Given the description of an element on the screen output the (x, y) to click on. 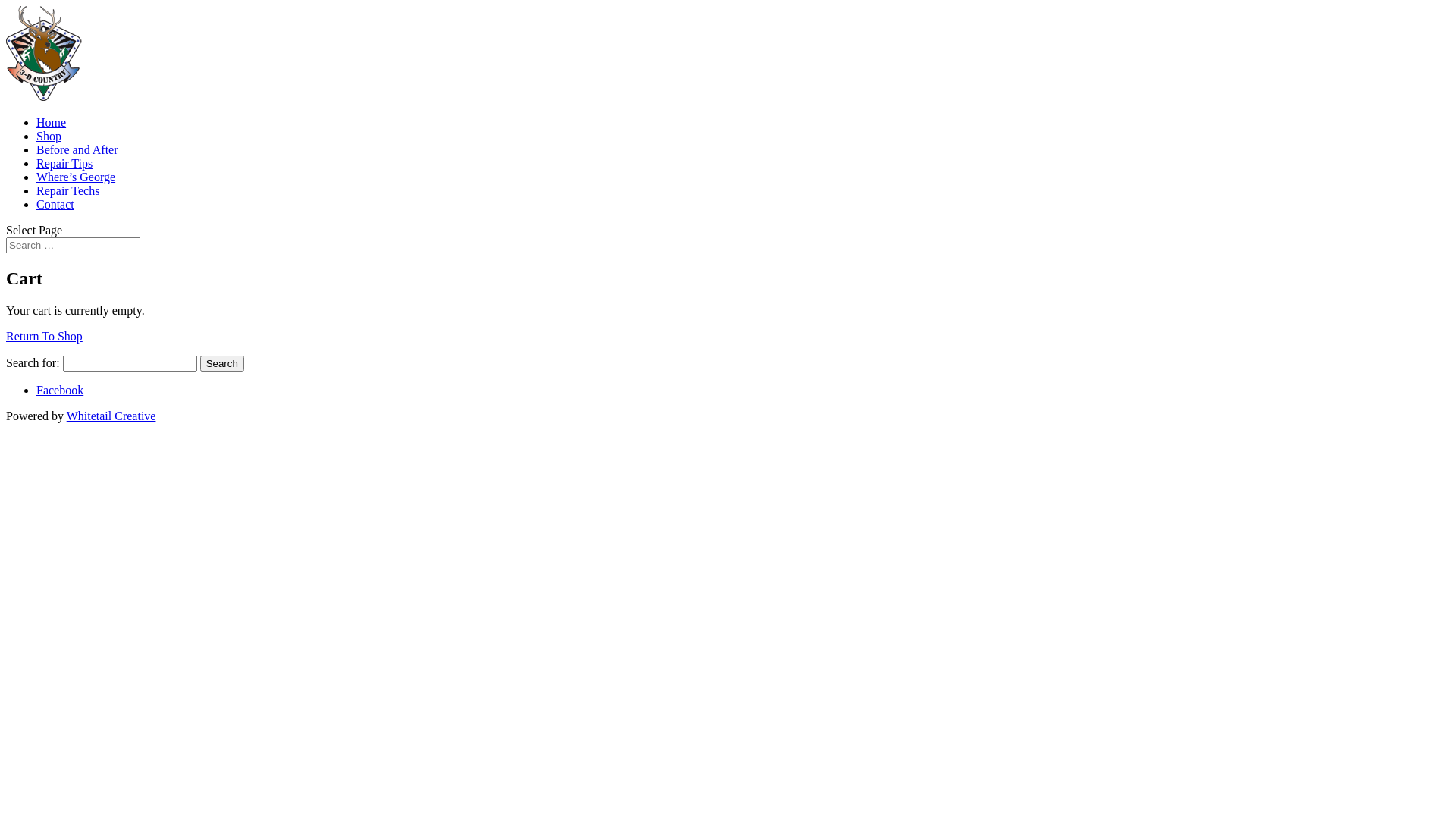
Before and After Element type: text (77, 149)
Facebook Element type: text (59, 389)
Shop Element type: text (48, 135)
Search for: Element type: hover (73, 245)
Home Element type: text (50, 122)
Whitetail Creative Element type: text (111, 415)
Repair Tips Element type: text (64, 162)
Contact Element type: text (55, 203)
Search Element type: text (222, 363)
Repair Techs Element type: text (67, 190)
Return To Shop Element type: text (44, 335)
